Given the description of an element on the screen output the (x, y) to click on. 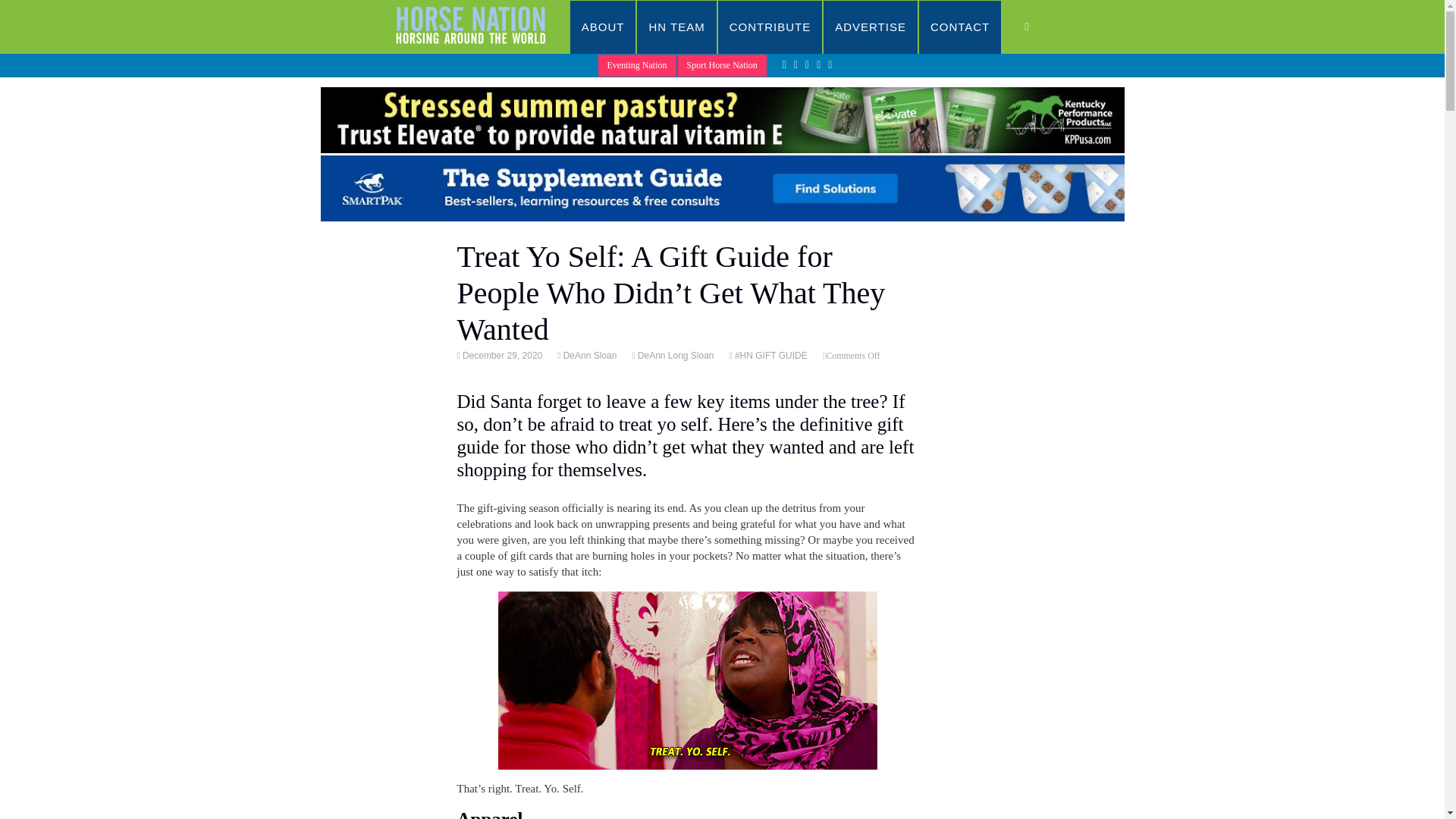
December 29, 2020 (500, 355)
HN TEAM (676, 27)
View all posts by DeAnn Sloan (588, 355)
ADVERTISE (870, 27)
SEARCH (1041, 27)
Sport Horse Nation (722, 65)
Eventing Nation (637, 65)
ABOUT (603, 27)
DeAnn Long Sloan (674, 355)
DeAnn Sloan (588, 355)
